Given the description of an element on the screen output the (x, y) to click on. 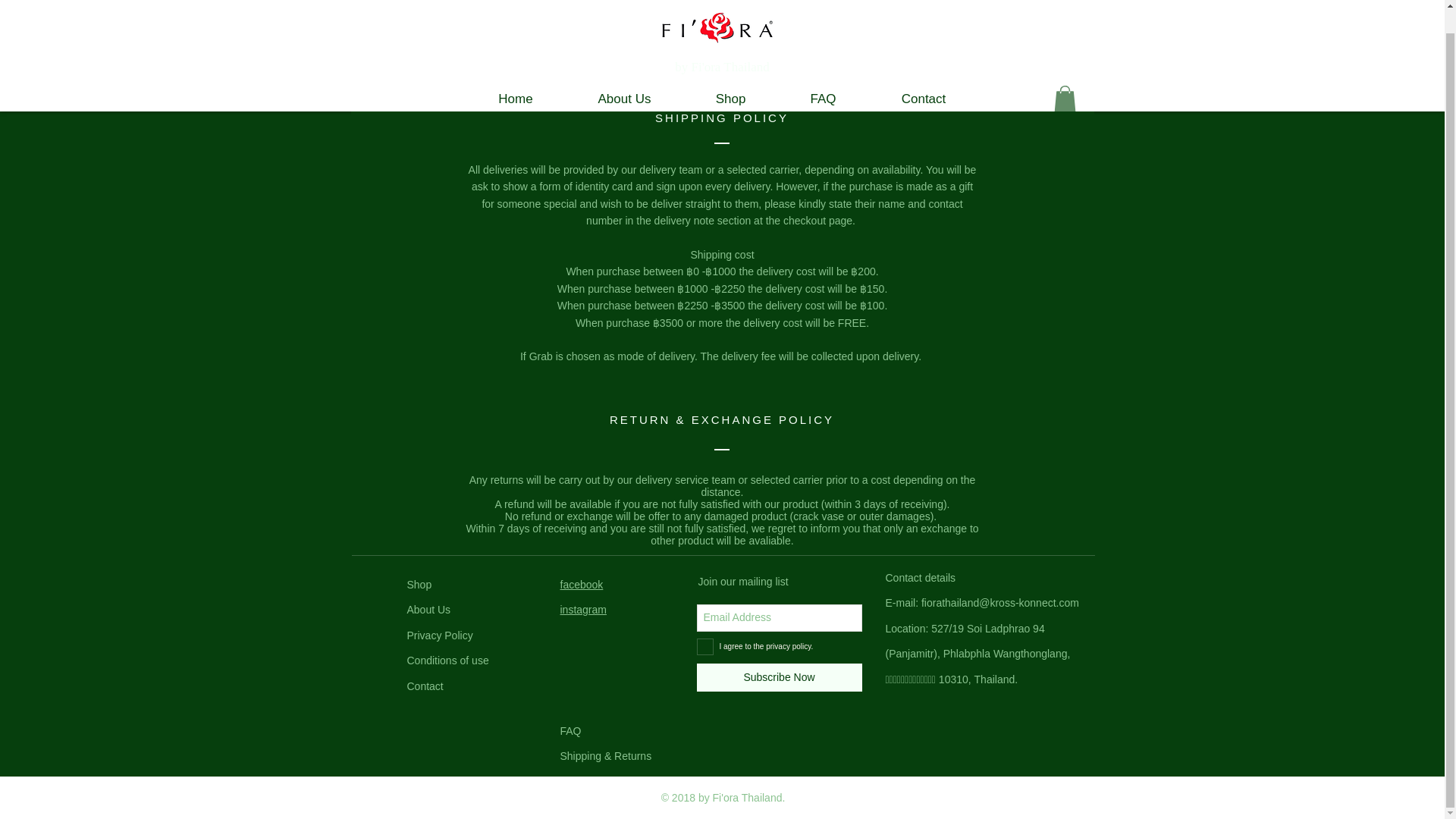
FAQ (569, 730)
About Us (427, 609)
by Fi'ora Thailand (722, 66)
Contact details (920, 577)
instagram (582, 609)
Privacy Policy (438, 635)
About Us (625, 98)
facebook (580, 584)
Contact (923, 98)
Shop (418, 584)
Shop (730, 98)
FAQ (823, 98)
Home (514, 98)
Contact (424, 686)
Conditions of use (446, 660)
